Given the description of an element on the screen output the (x, y) to click on. 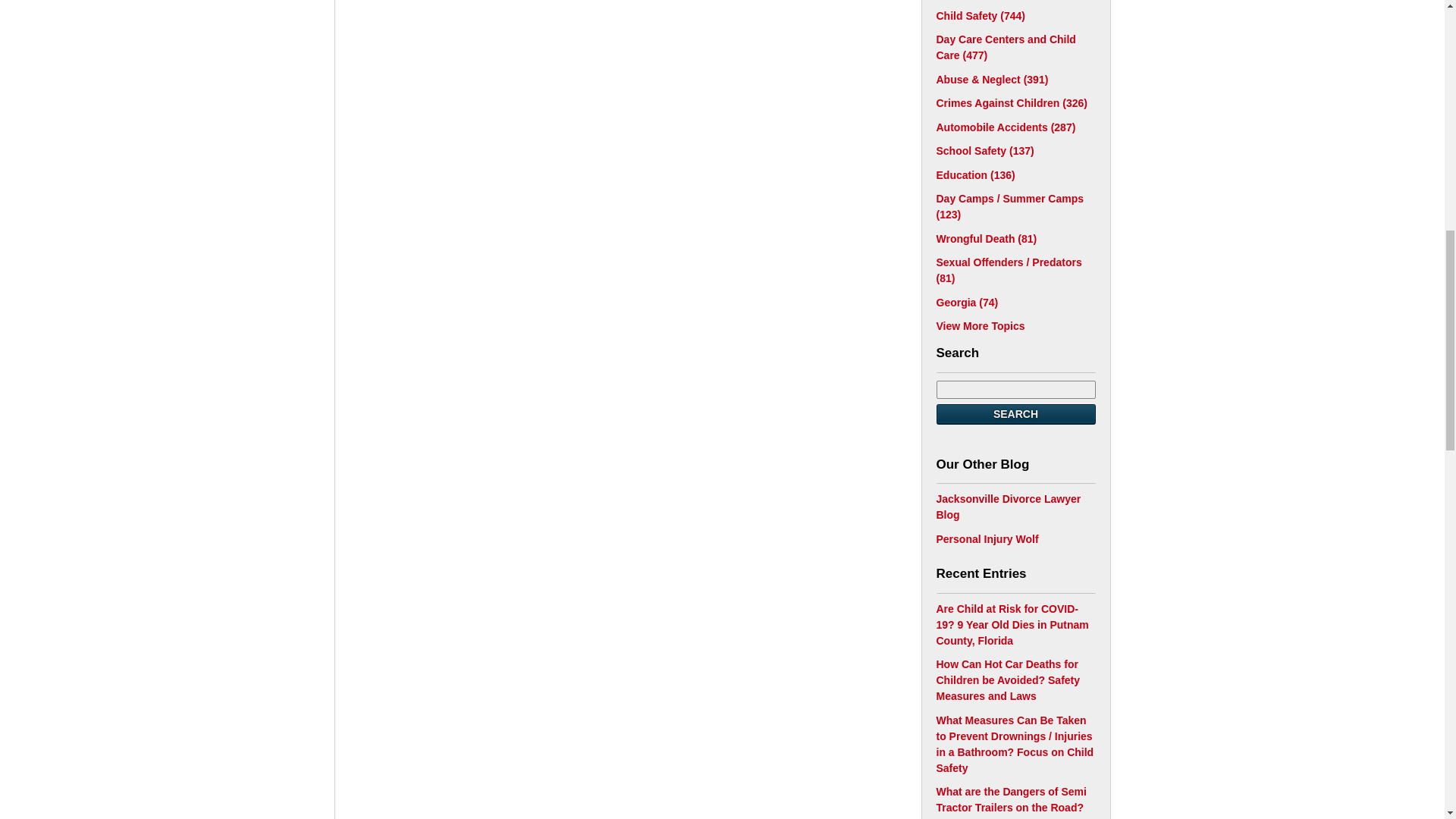
View More Topics (980, 326)
SEARCH (1015, 413)
